Given the description of an element on the screen output the (x, y) to click on. 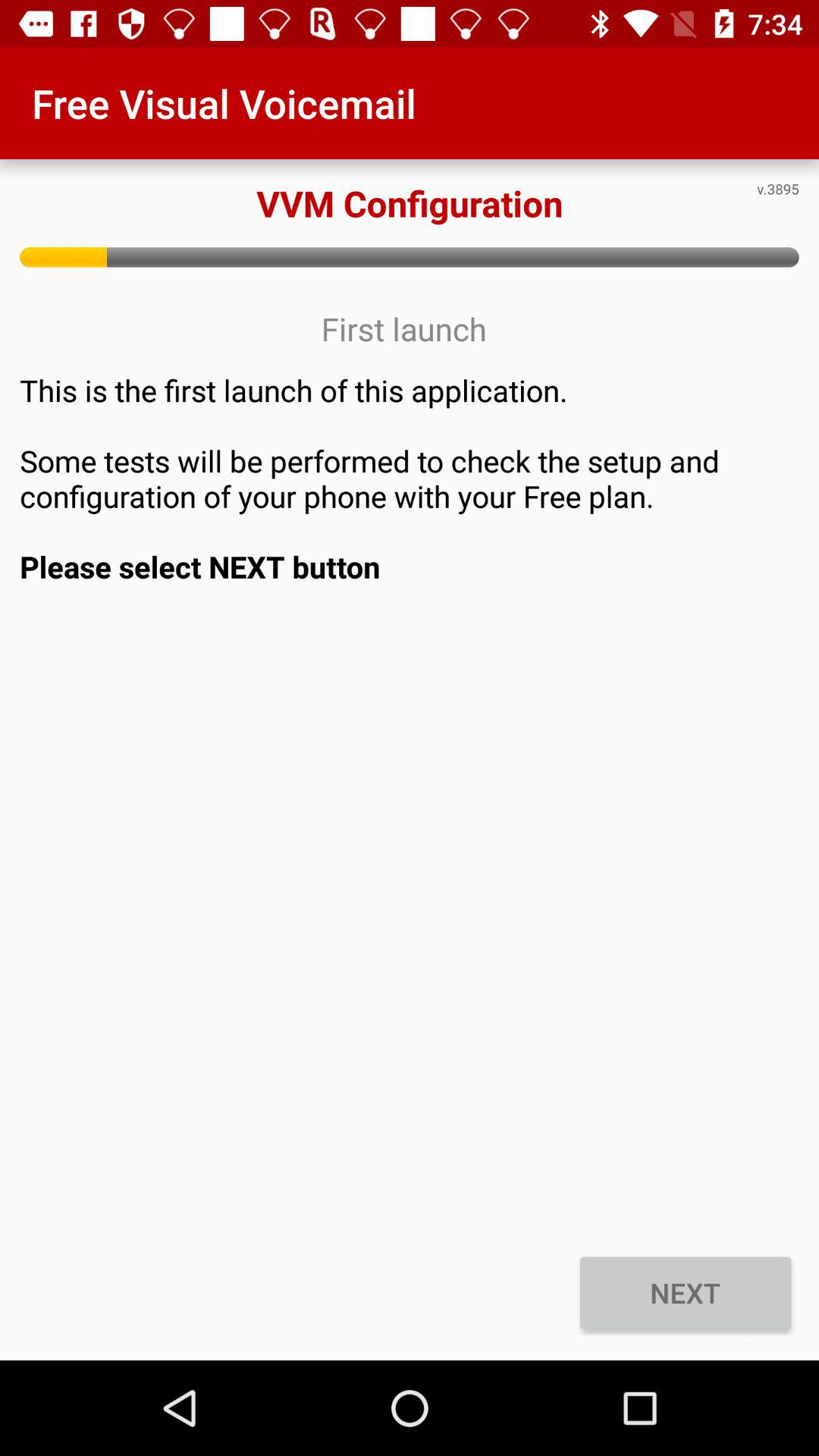
select the icon below the this is the icon (685, 1292)
